Given the description of an element on the screen output the (x, y) to click on. 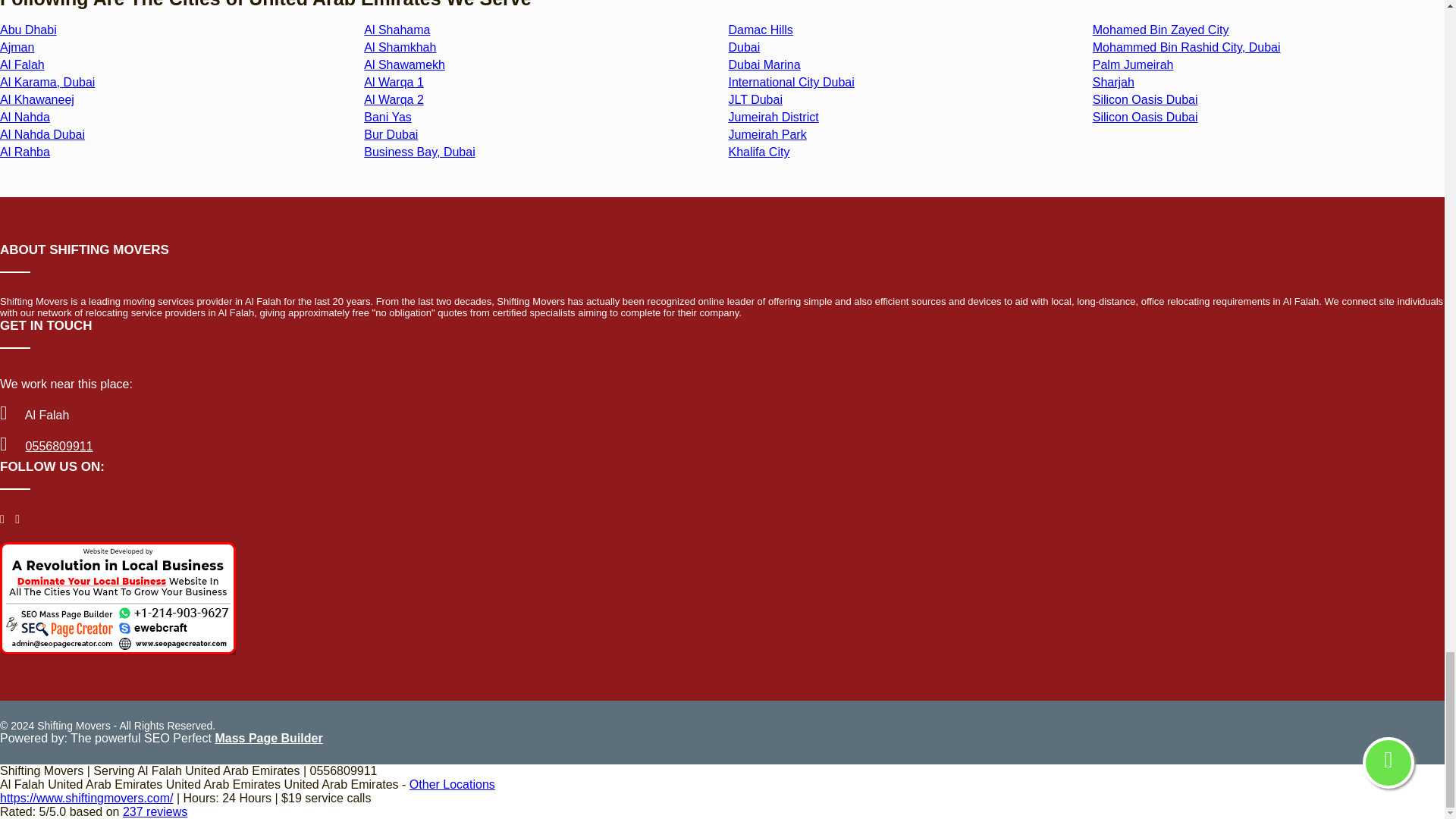
Al Khawaneej (37, 99)
Al Karama, Dubai (47, 82)
Al Nahda (24, 116)
Al Falah (22, 64)
Ajman (16, 47)
Abu Dhabi (28, 29)
